Given the description of an element on the screen output the (x, y) to click on. 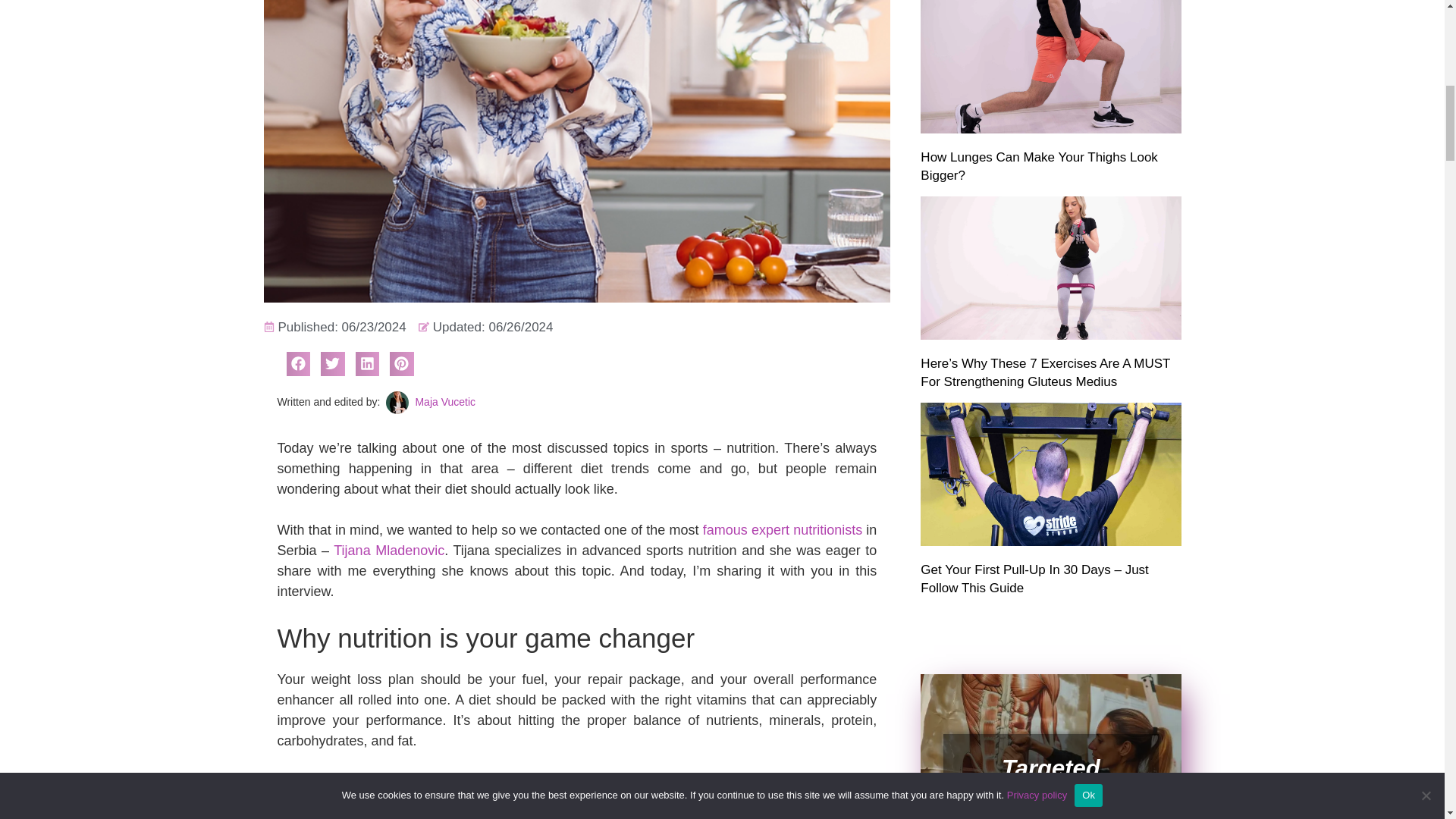
Posts by Maja Vucetic (445, 401)
